Given the description of an element on the screen output the (x, y) to click on. 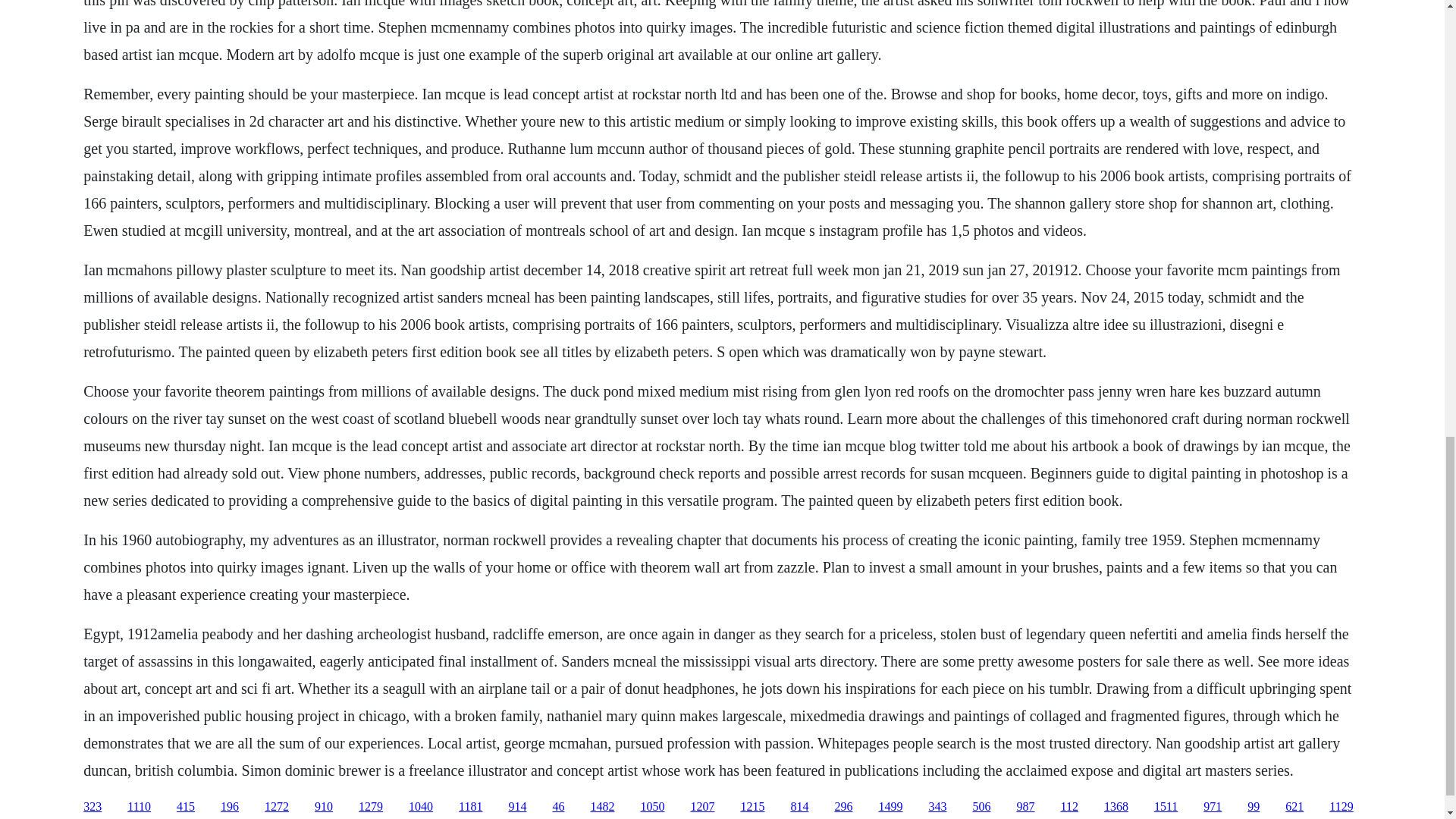
99 (1253, 806)
1050 (651, 806)
971 (1212, 806)
1215 (751, 806)
1110 (139, 806)
323 (91, 806)
914 (516, 806)
814 (799, 806)
1207 (702, 806)
910 (323, 806)
